Given the description of an element on the screen output the (x, y) to click on. 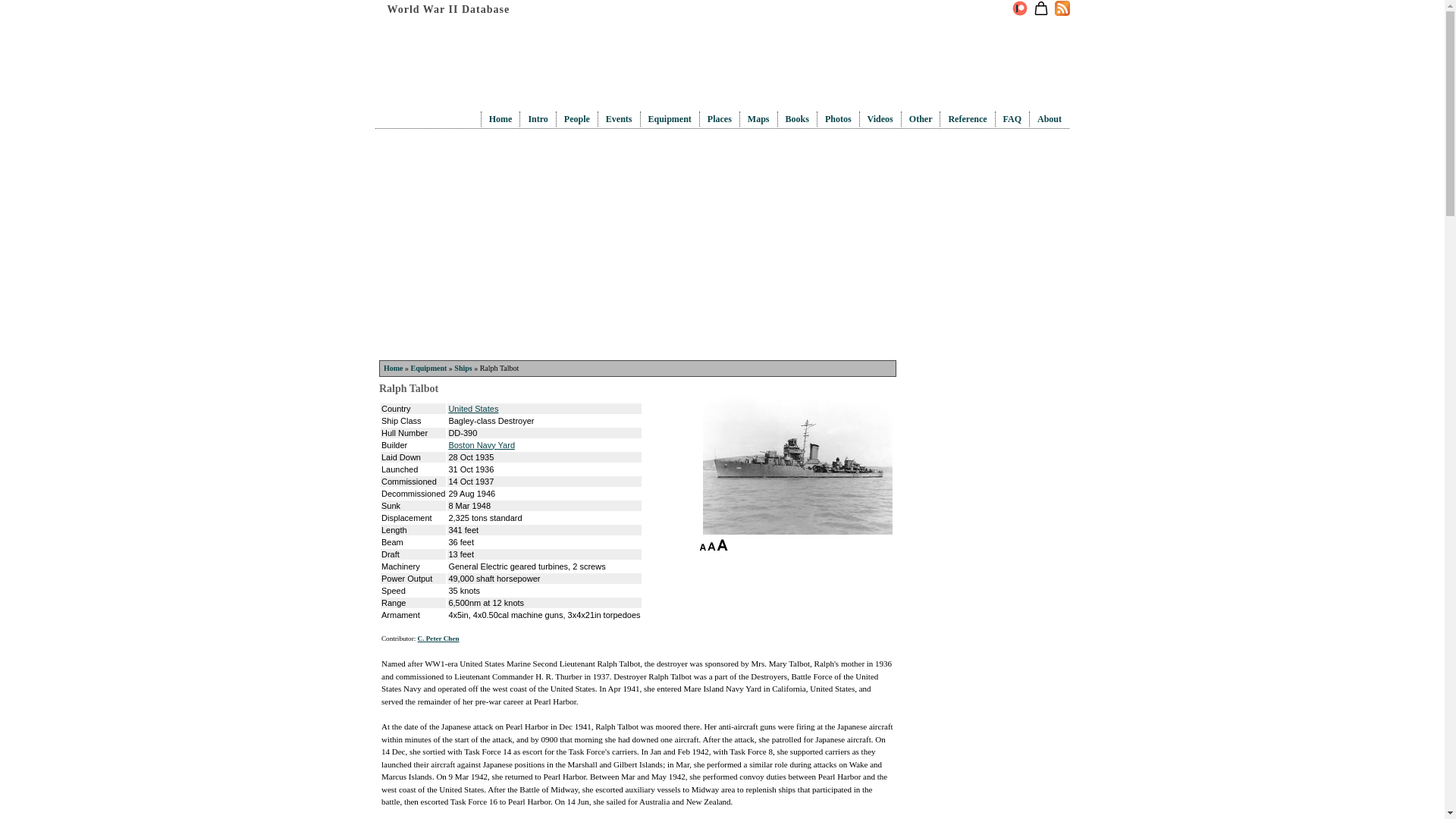
Increase font size (722, 544)
Equipment (428, 367)
Boston Navy Yard (481, 443)
Home (393, 367)
Photos (838, 118)
Reference (967, 118)
Events (618, 118)
FAQ (1012, 118)
Ships (462, 367)
